Given the description of an element on the screen output the (x, y) to click on. 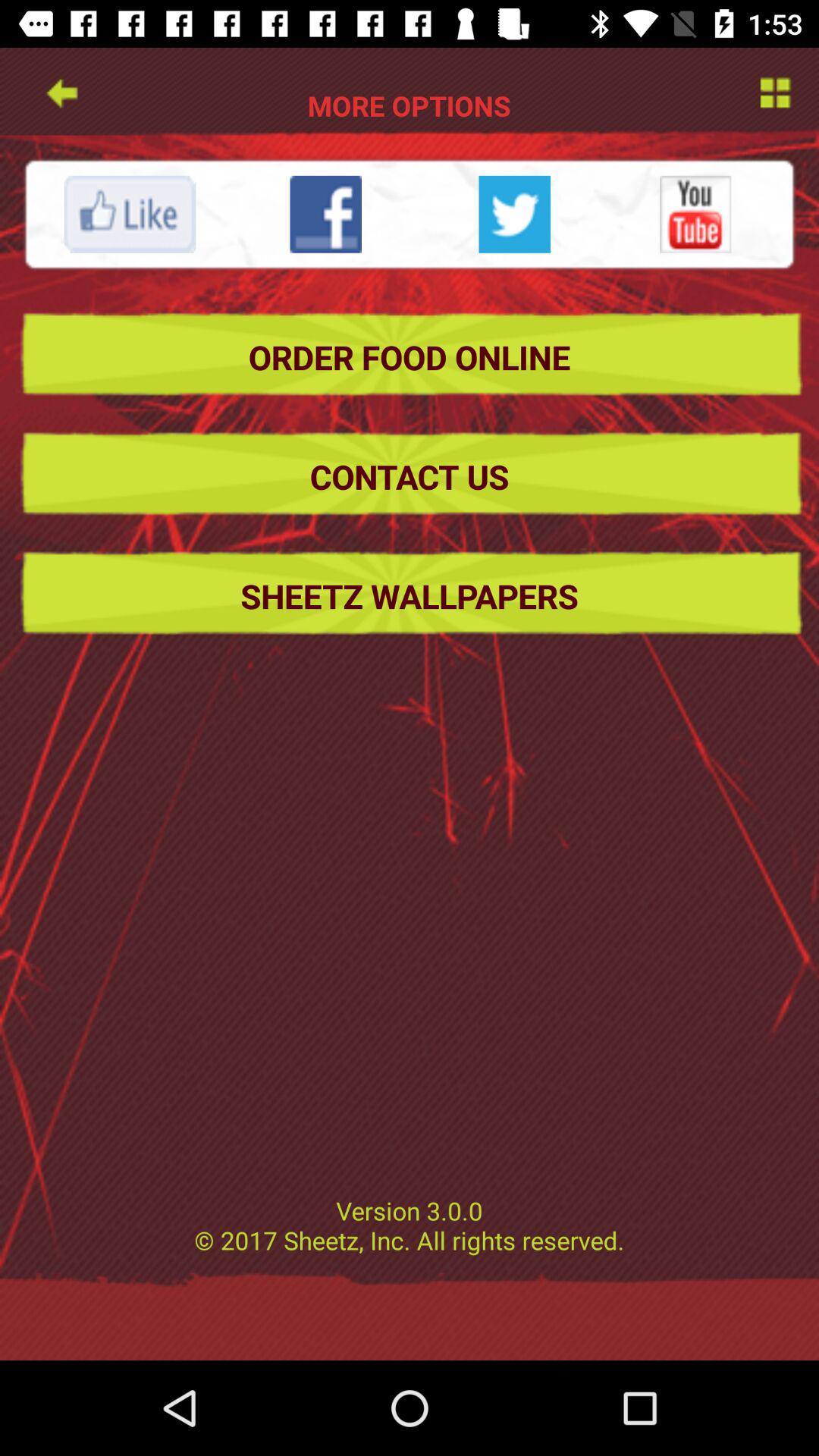
back (61, 91)
